Given the description of an element on the screen output the (x, y) to click on. 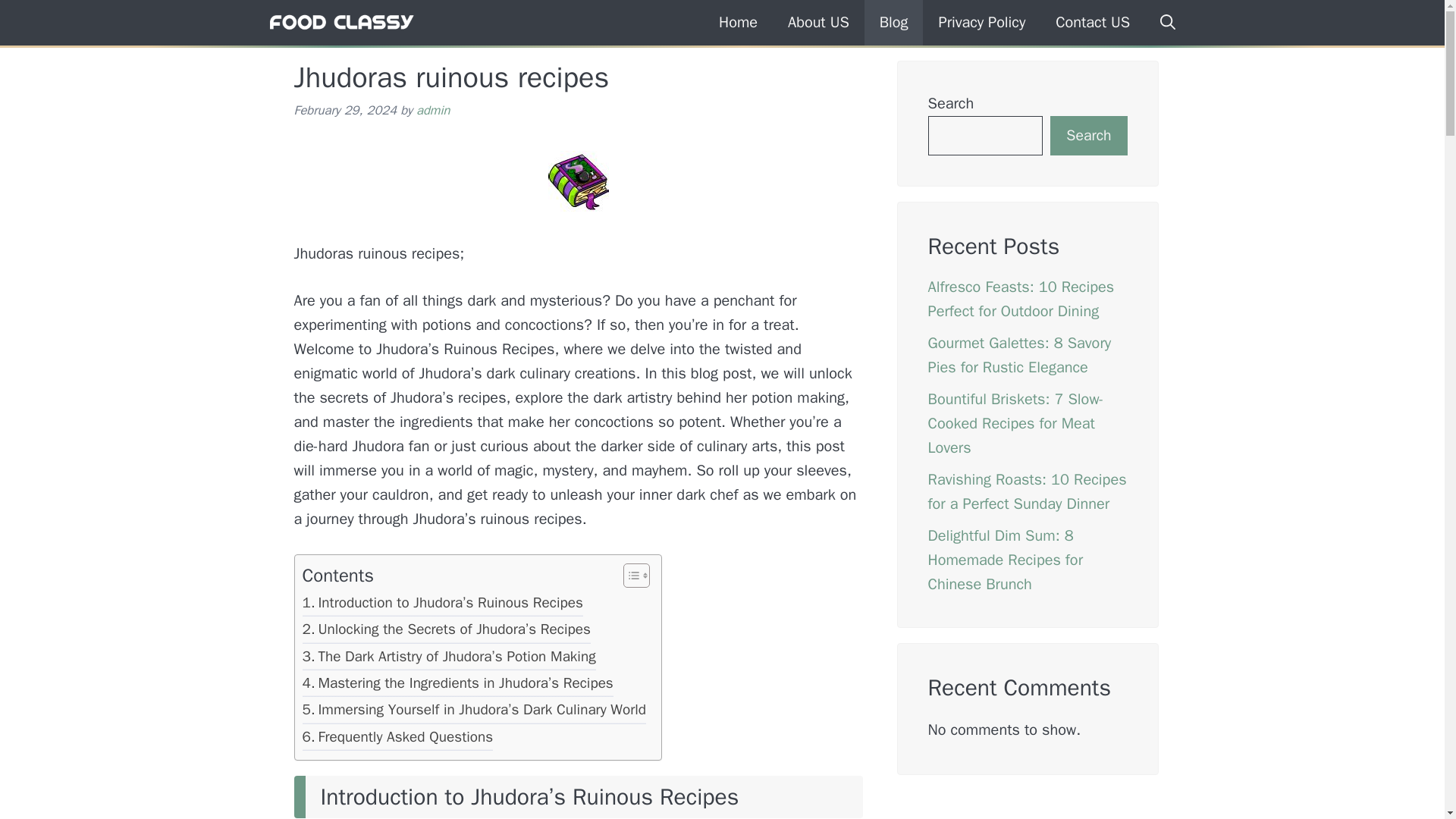
Blog (893, 22)
admin (432, 109)
Frequently Asked Questions (397, 738)
Gourmet Galettes: 8 Savory Pies for Rustic Elegance (1020, 354)
Privacy Policy (982, 22)
Search (1087, 135)
Bountiful Briskets: 7 Slow-Cooked Recipes for Meat Lovers (1015, 423)
Frequently Asked Questions (397, 738)
Home (738, 22)
Delightful Dim Sum: 8 Homemade Recipes for Chinese Brunch (1005, 559)
